Given the description of an element on the screen output the (x, y) to click on. 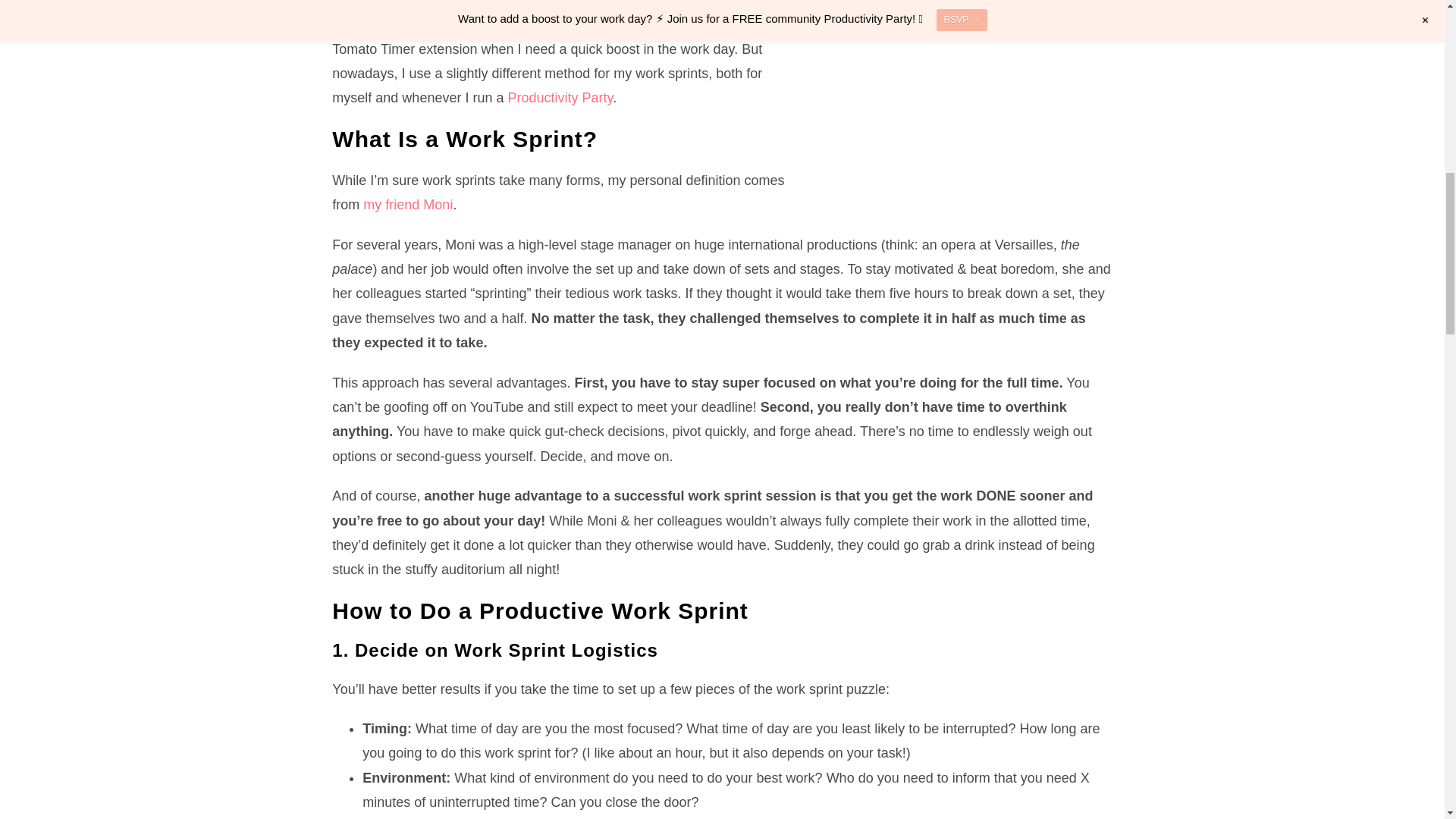
my friend Moni (407, 204)
The Pomodoro Method (541, 15)
Productivity Party (559, 97)
